Given the description of an element on the screen output the (x, y) to click on. 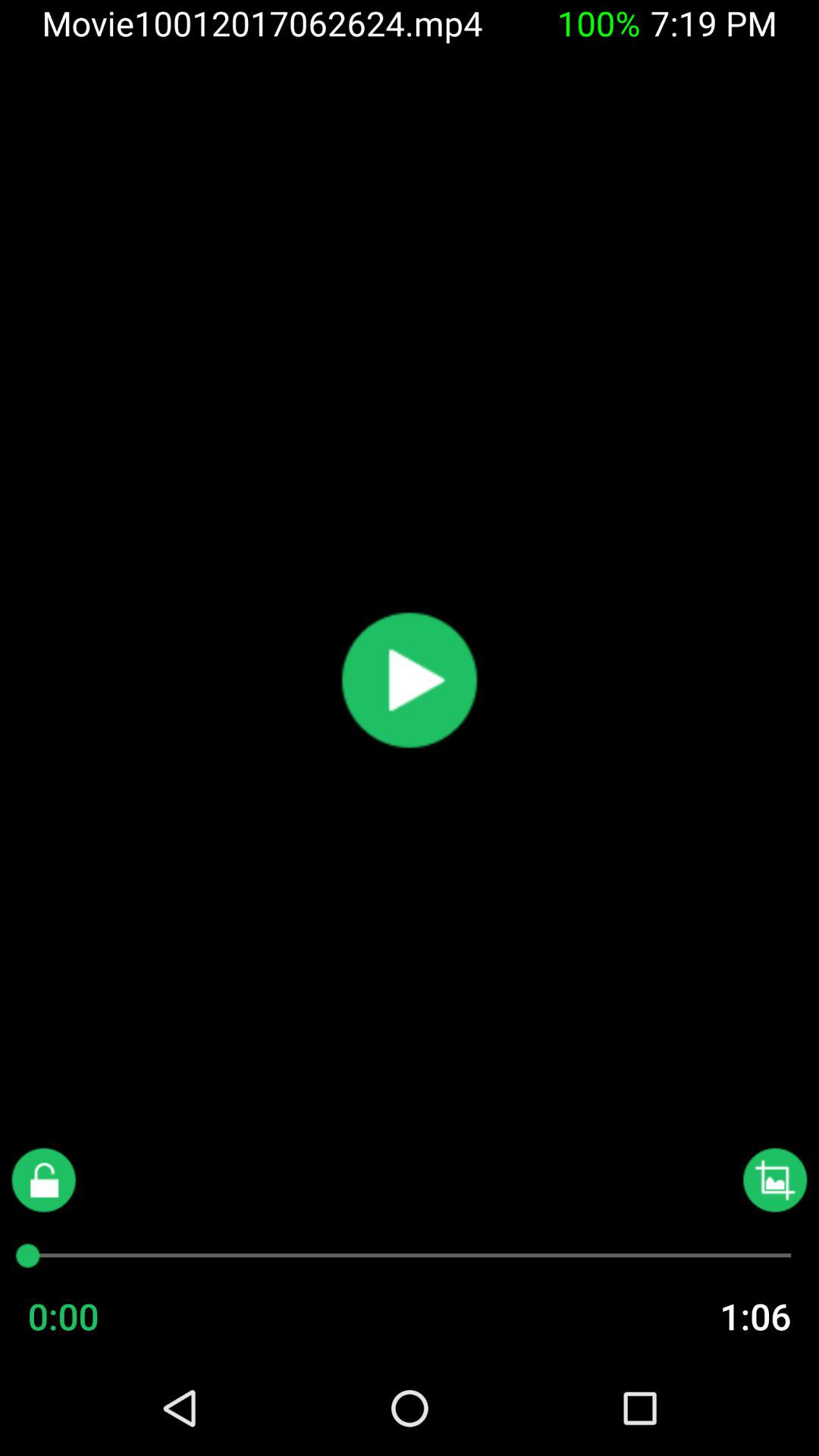
tap icon to the right of 0:00 (725, 1315)
